Given the description of an element on the screen output the (x, y) to click on. 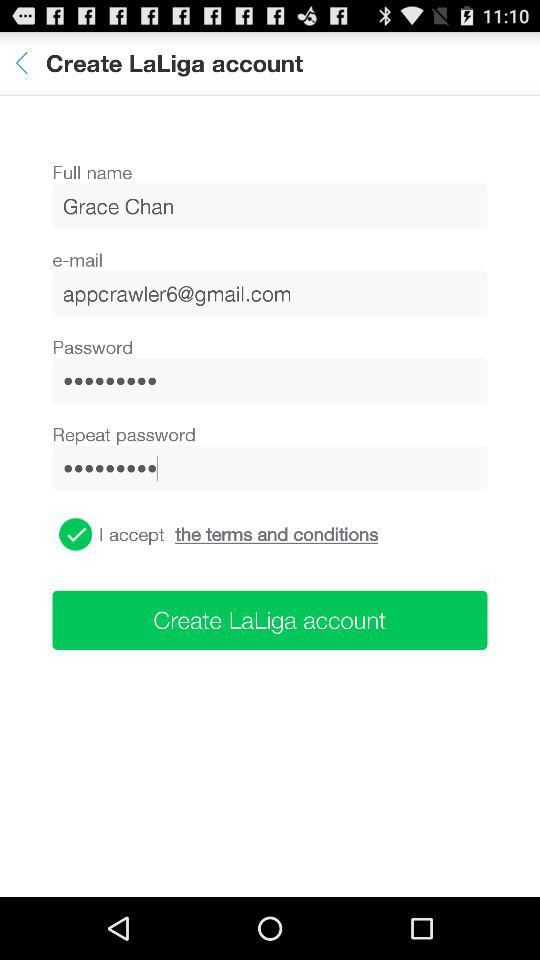
turn off icon below the crowd3116 item (276, 533)
